Given the description of an element on the screen output the (x, y) to click on. 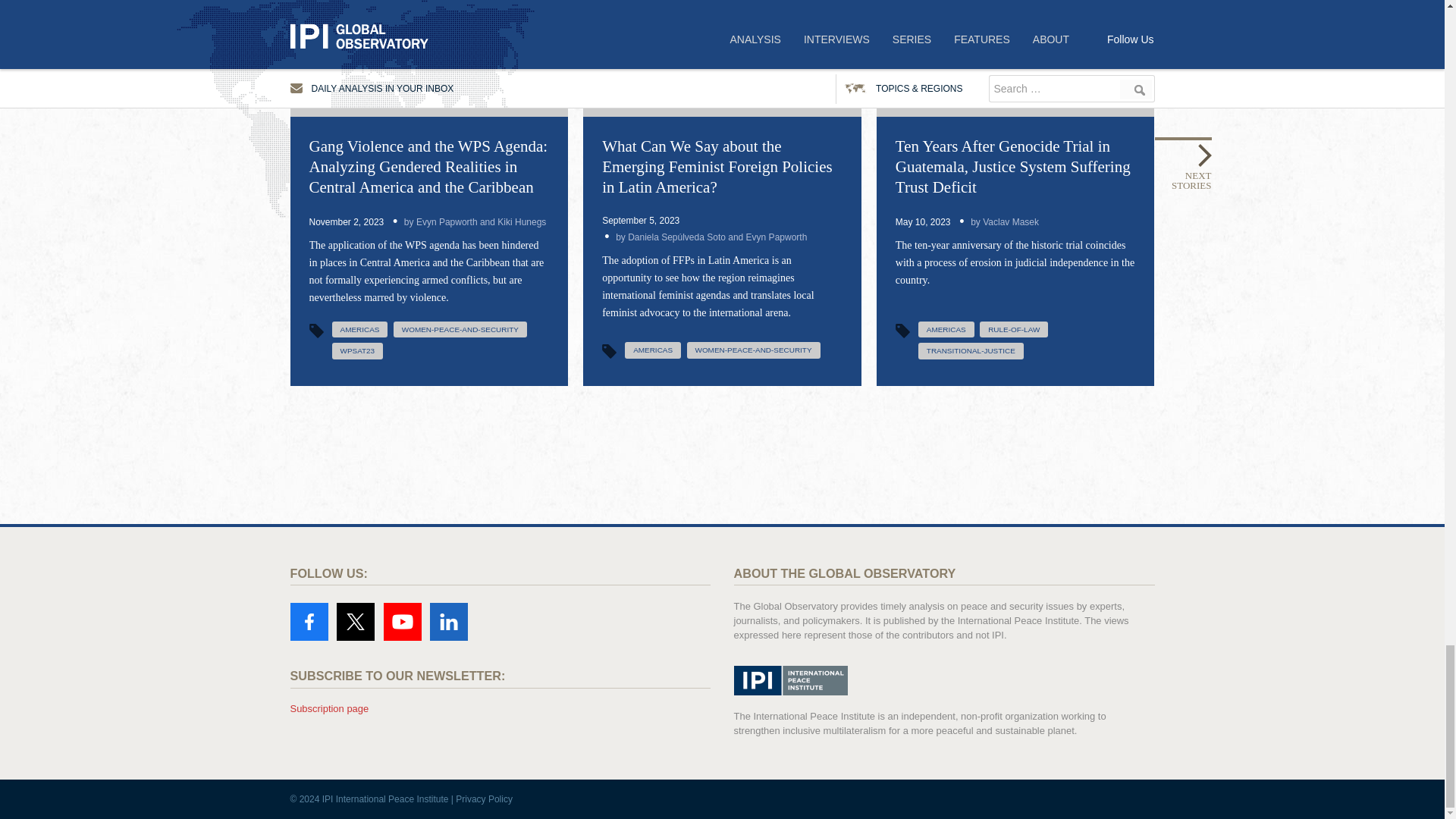
women peace and security (754, 350)
women peace and security (460, 329)
transitional justice (970, 351)
